Given the description of an element on the screen output the (x, y) to click on. 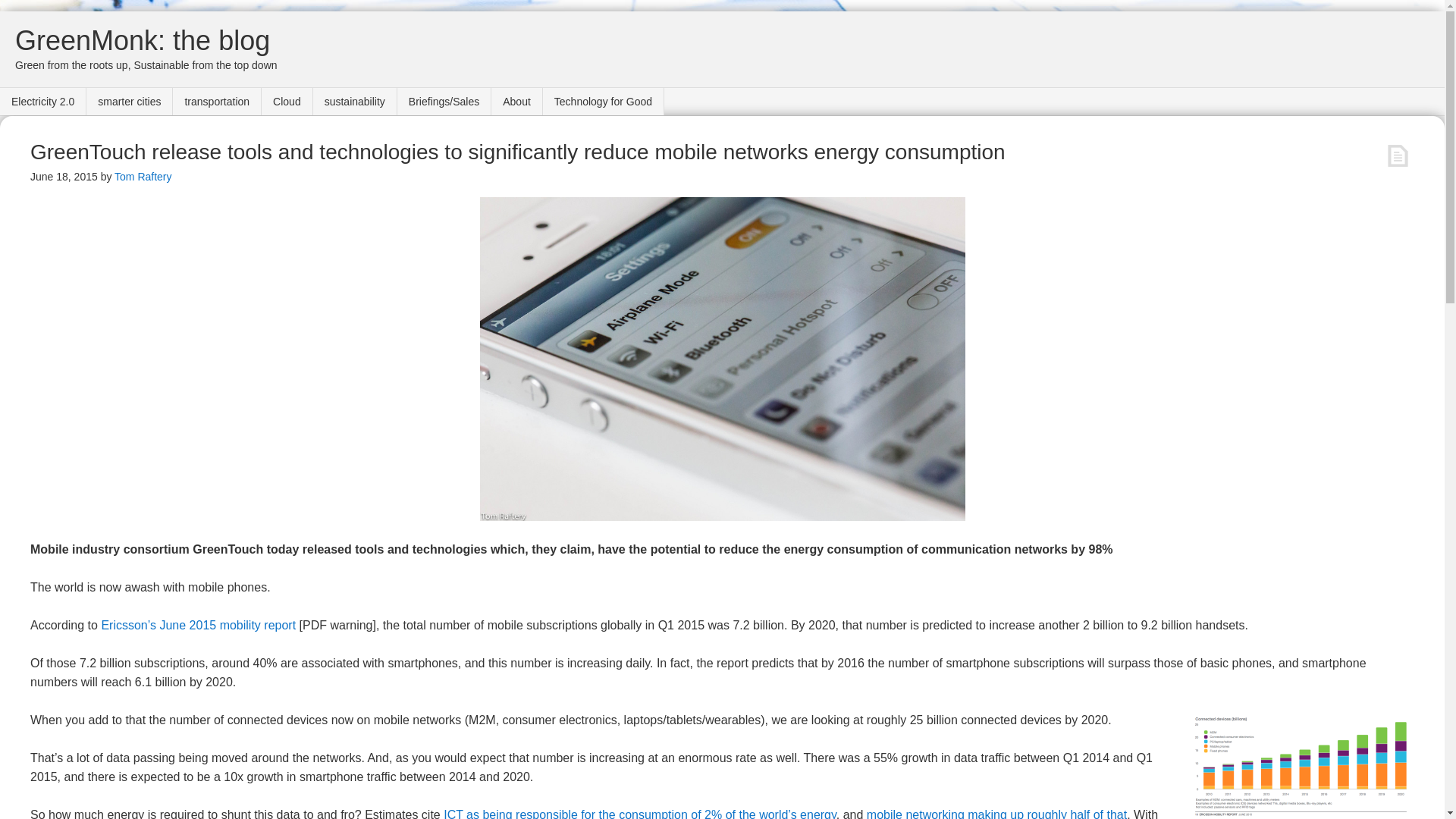
sustainability (355, 101)
Tom Raftery (143, 176)
transportation (217, 101)
GreenMonk: the blog (141, 40)
Cloud (287, 101)
smarter cities (129, 101)
About (517, 101)
Technology for Good (603, 101)
mobile networking making up roughly half of that (996, 813)
Electricity 2.0 (42, 101)
GreenMonk: the blog (141, 40)
